Given the description of an element on the screen output the (x, y) to click on. 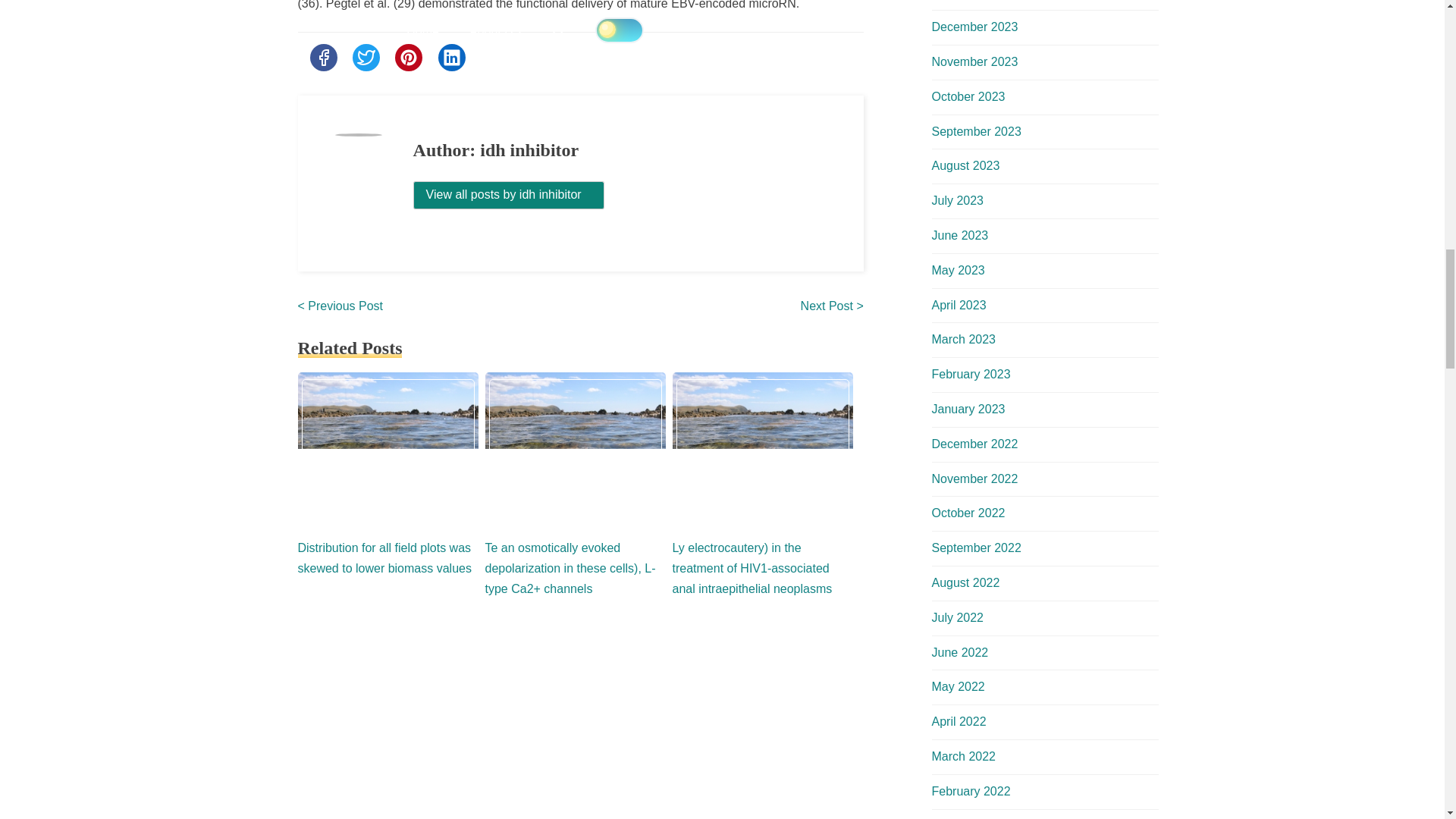
Share this post on Pinterest (408, 57)
Share this post on Facebook (322, 57)
Share this post on Twitter (366, 57)
View all posts by idh inhibitor (509, 194)
Share this post on Linkedin (451, 57)
View all posts by idh inhibitor (509, 194)
